Given the description of an element on the screen output the (x, y) to click on. 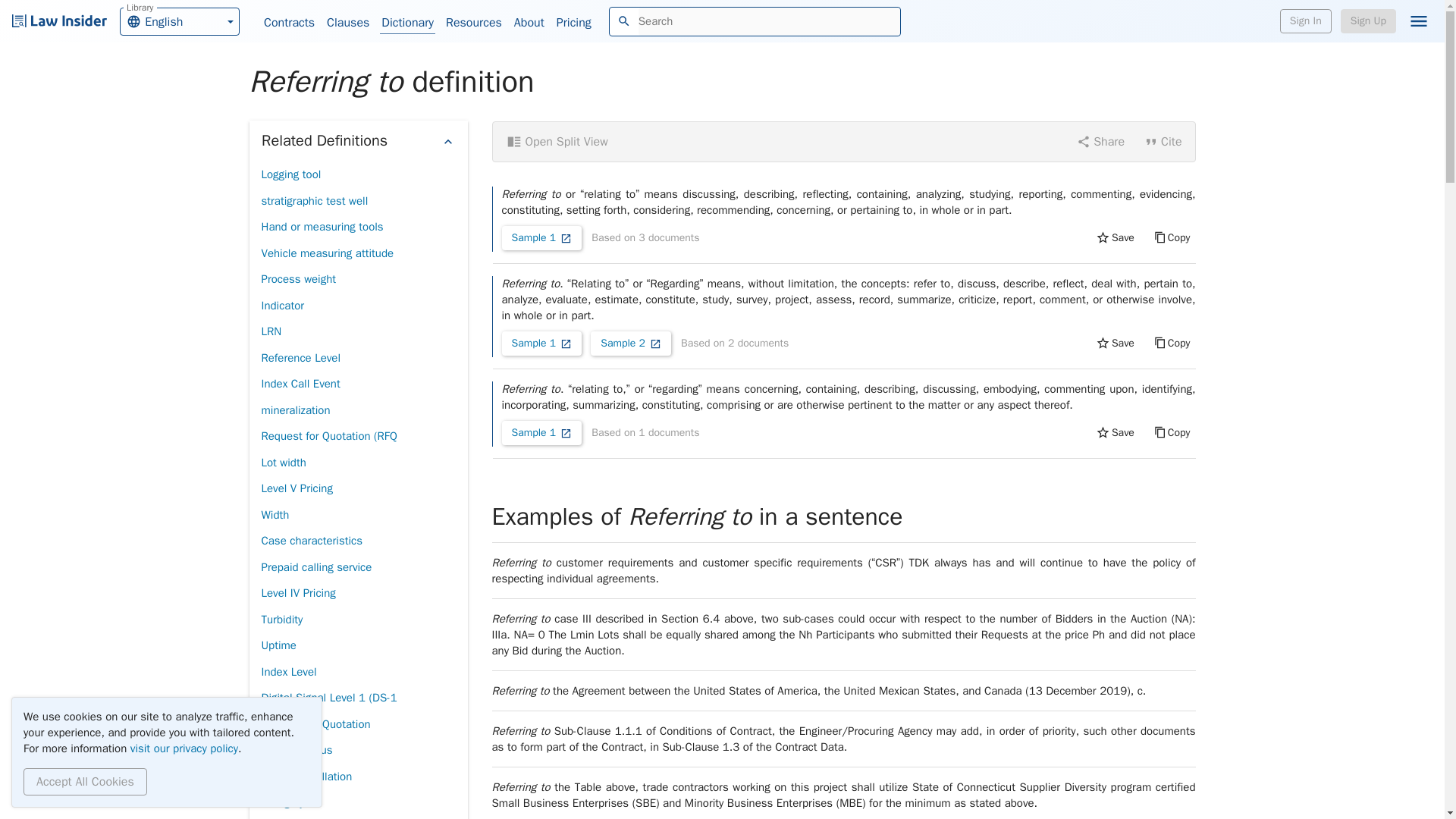
Contracts (288, 23)
Accept All Cookies (85, 781)
Level V Pricing (295, 488)
Hand or measuring tools (321, 226)
Prepaid calling service (315, 566)
About (529, 23)
mineralization (295, 410)
Vehicle measuring attitude (326, 252)
Pricing (573, 23)
Index Call Event (299, 384)
Case characteristics (311, 540)
Clauses (347, 23)
Width (274, 515)
Dictionary (407, 23)
Uptime (277, 645)
